Given the description of an element on the screen output the (x, y) to click on. 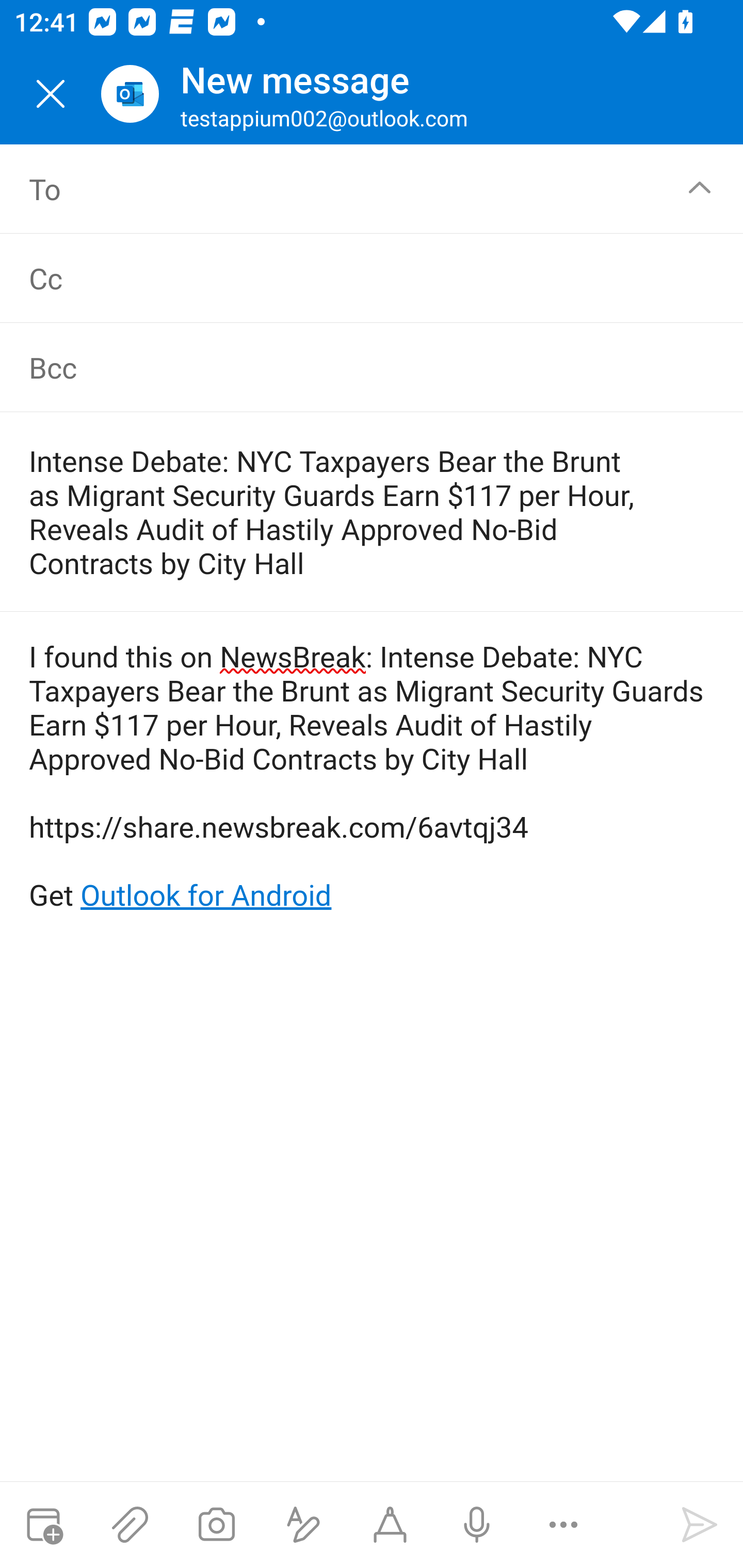
Close (50, 93)
Attach meeting (43, 1524)
Attach files (129, 1524)
Take a photo (216, 1524)
Show formatting options (303, 1524)
Start Ink compose (389, 1524)
Dictation (476, 1524)
More options (563, 1524)
Send (699, 1524)
